Given the description of an element on the screen output the (x, y) to click on. 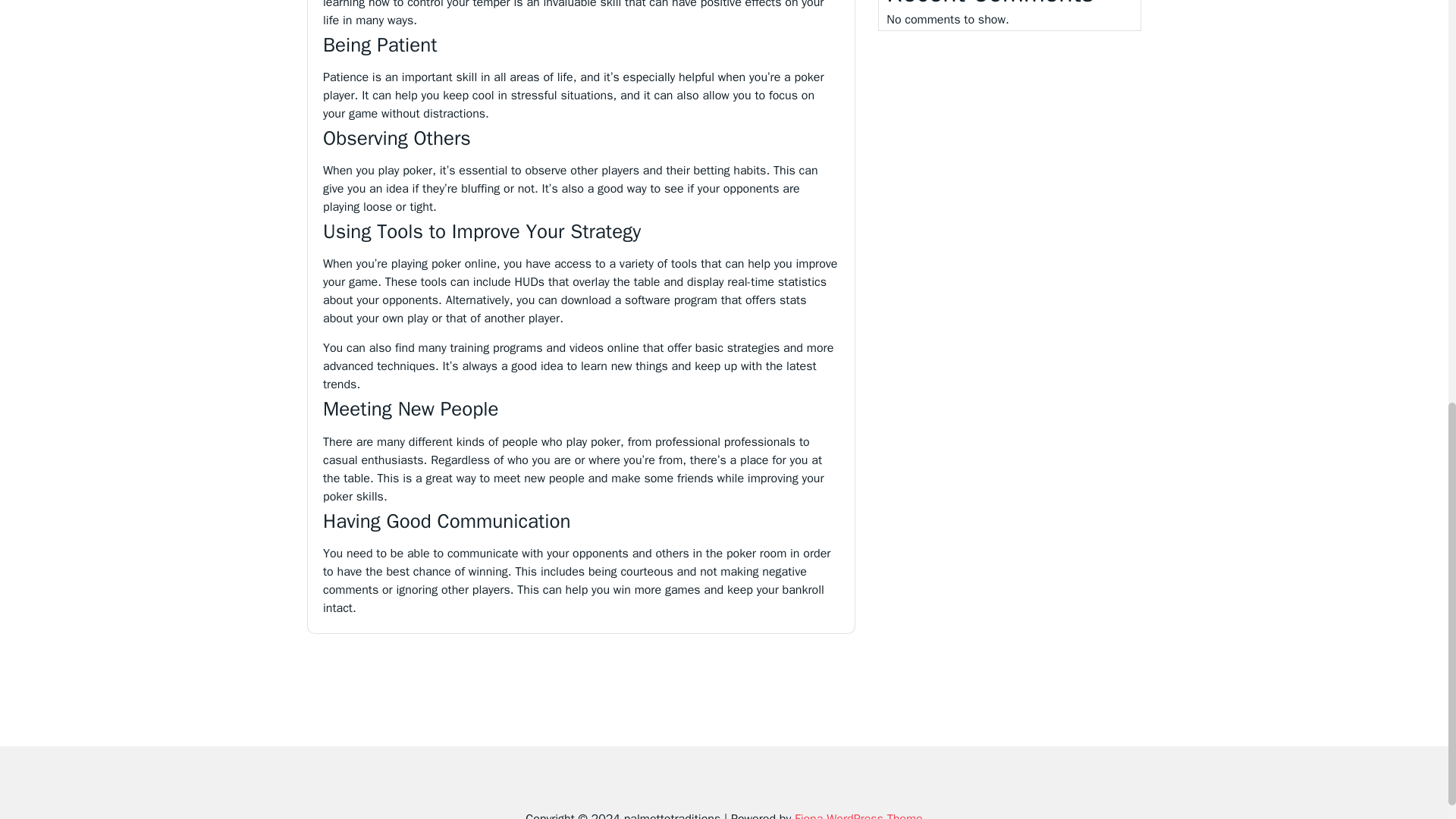
Fiona WordPress Theme (858, 815)
